Given the description of an element on the screen output the (x, y) to click on. 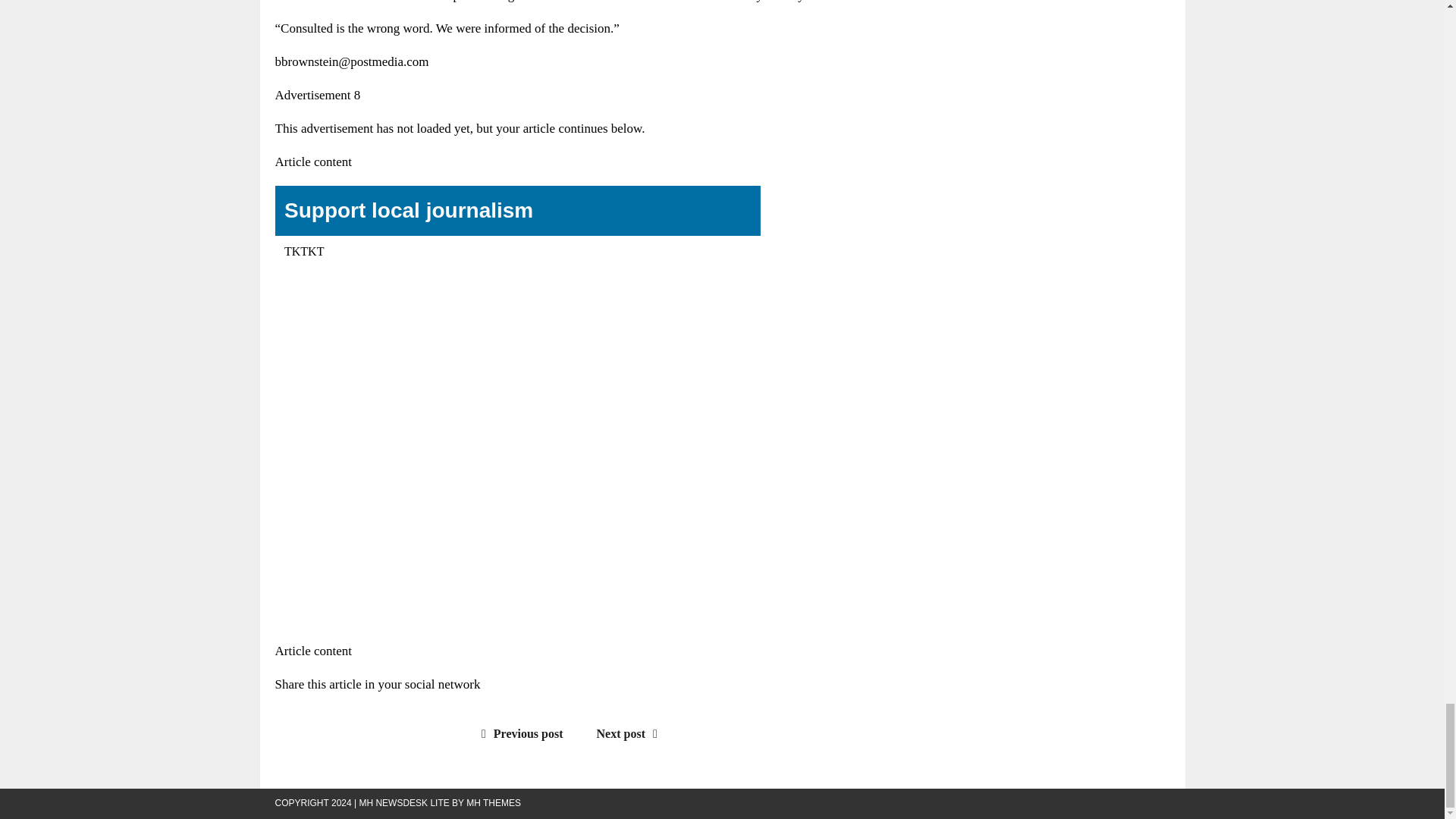
Previous post (518, 733)
Next post (630, 733)
